Given the description of an element on the screen output the (x, y) to click on. 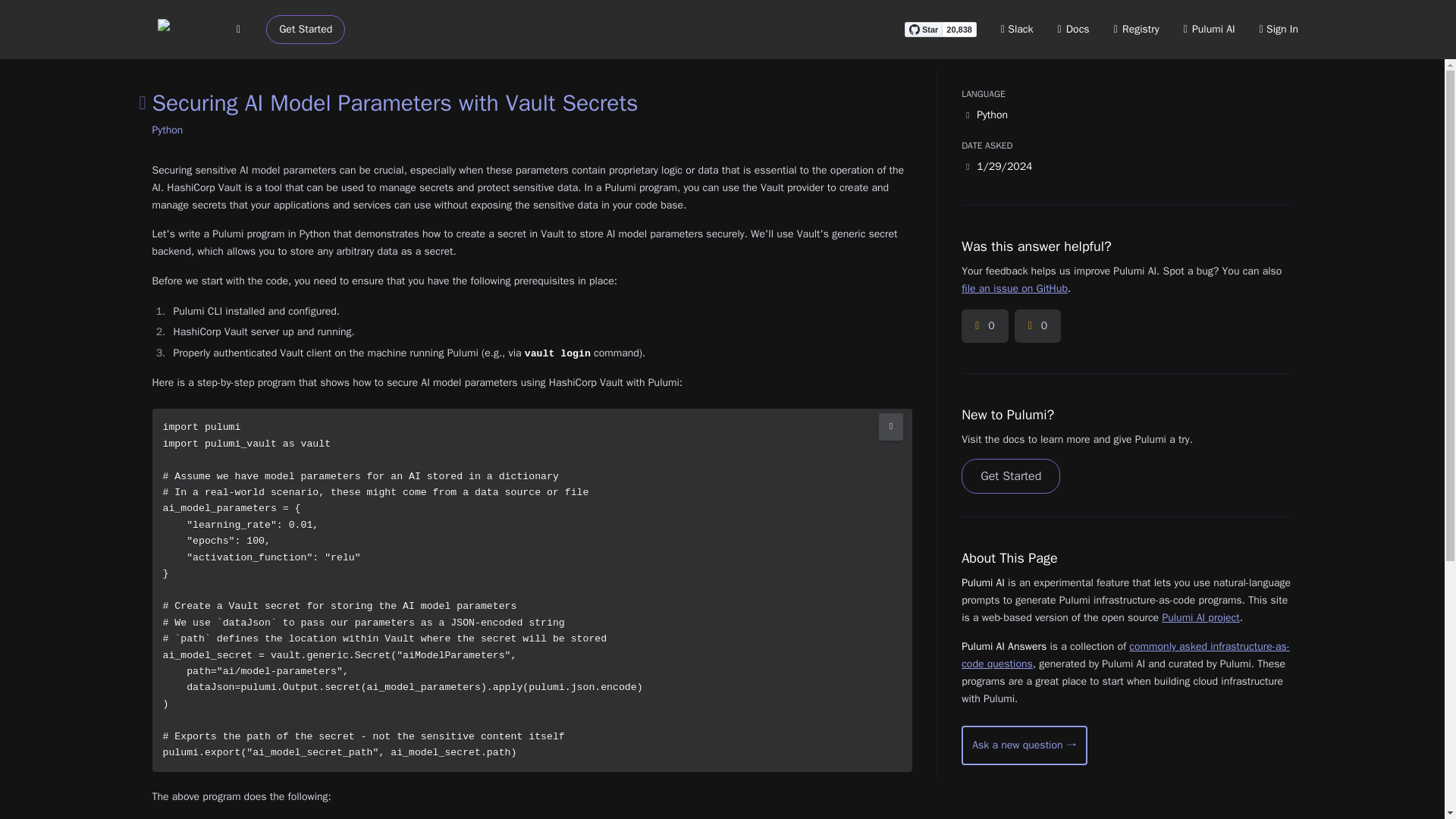
file an issue on GitHub (1013, 287)
Registry (1135, 29)
Get Started (1009, 475)
0 (984, 326)
Sign In (1278, 29)
Slack (1017, 29)
Docs (1073, 29)
Start a new conversation with Pulumi AI (1023, 744)
Downvote this answer (1037, 326)
0 (1037, 326)
